Given the description of an element on the screen output the (x, y) to click on. 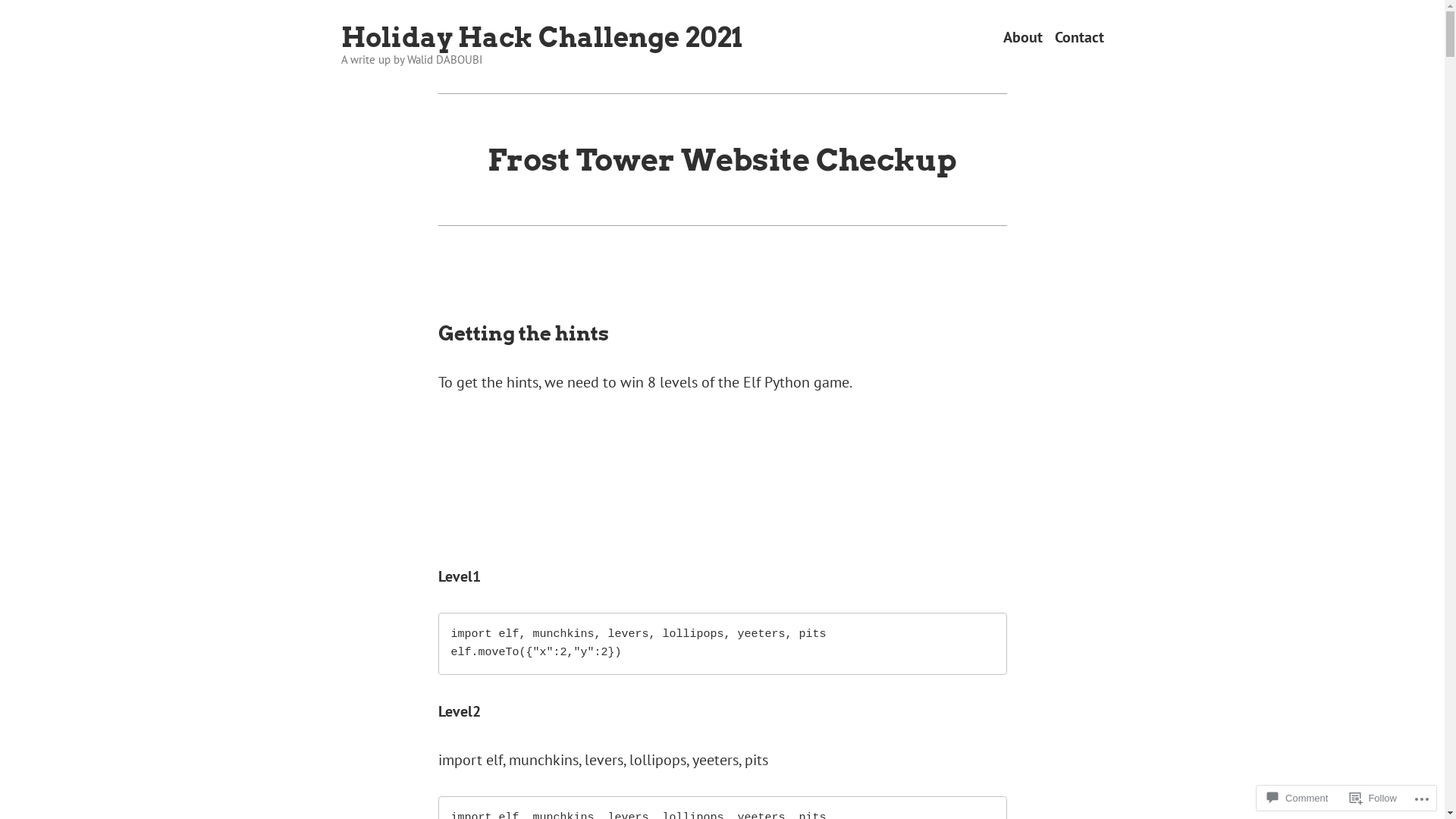
Holiday Hack Challenge 2021 Element type: text (541, 37)
Follow Element type: text (1372, 797)
About Element type: text (1021, 37)
Contact Element type: text (1078, 37)
Comment Element type: text (1297, 797)
